Given the description of an element on the screen output the (x, y) to click on. 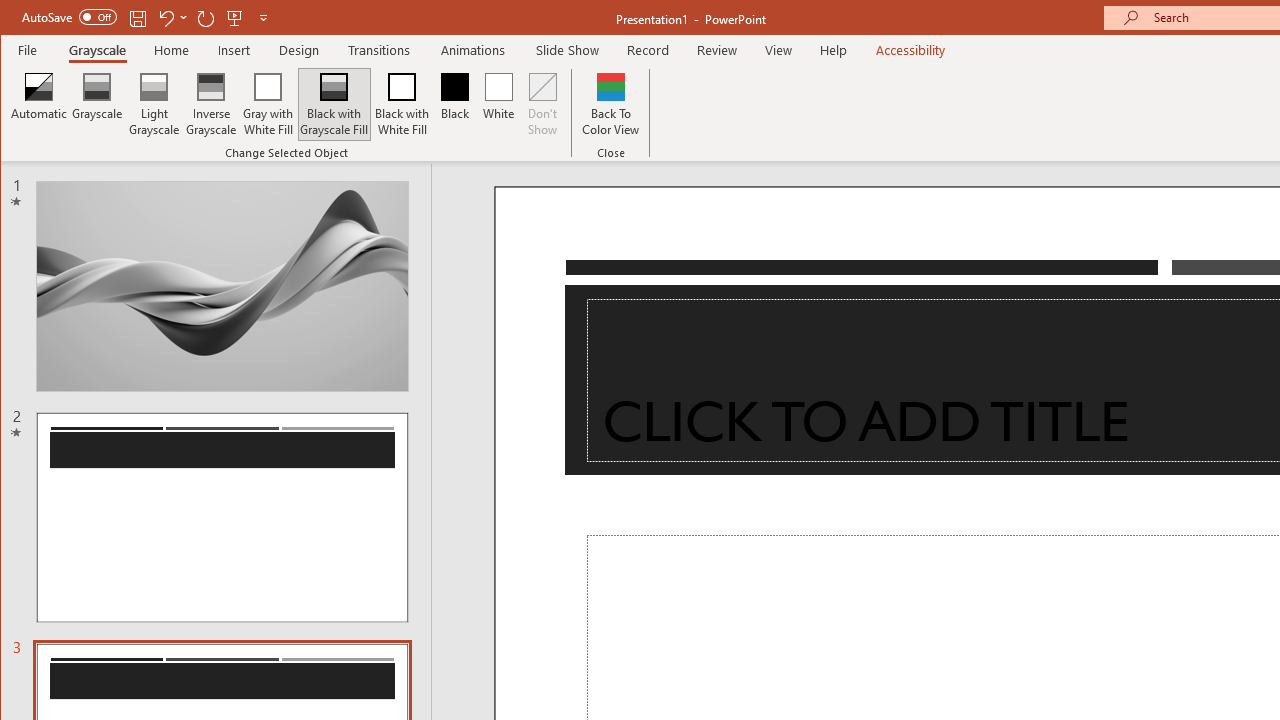
Black with White Fill (402, 104)
Back To Color View (610, 104)
Light Grayscale (153, 104)
Design (299, 50)
